Given the description of an element on the screen output the (x, y) to click on. 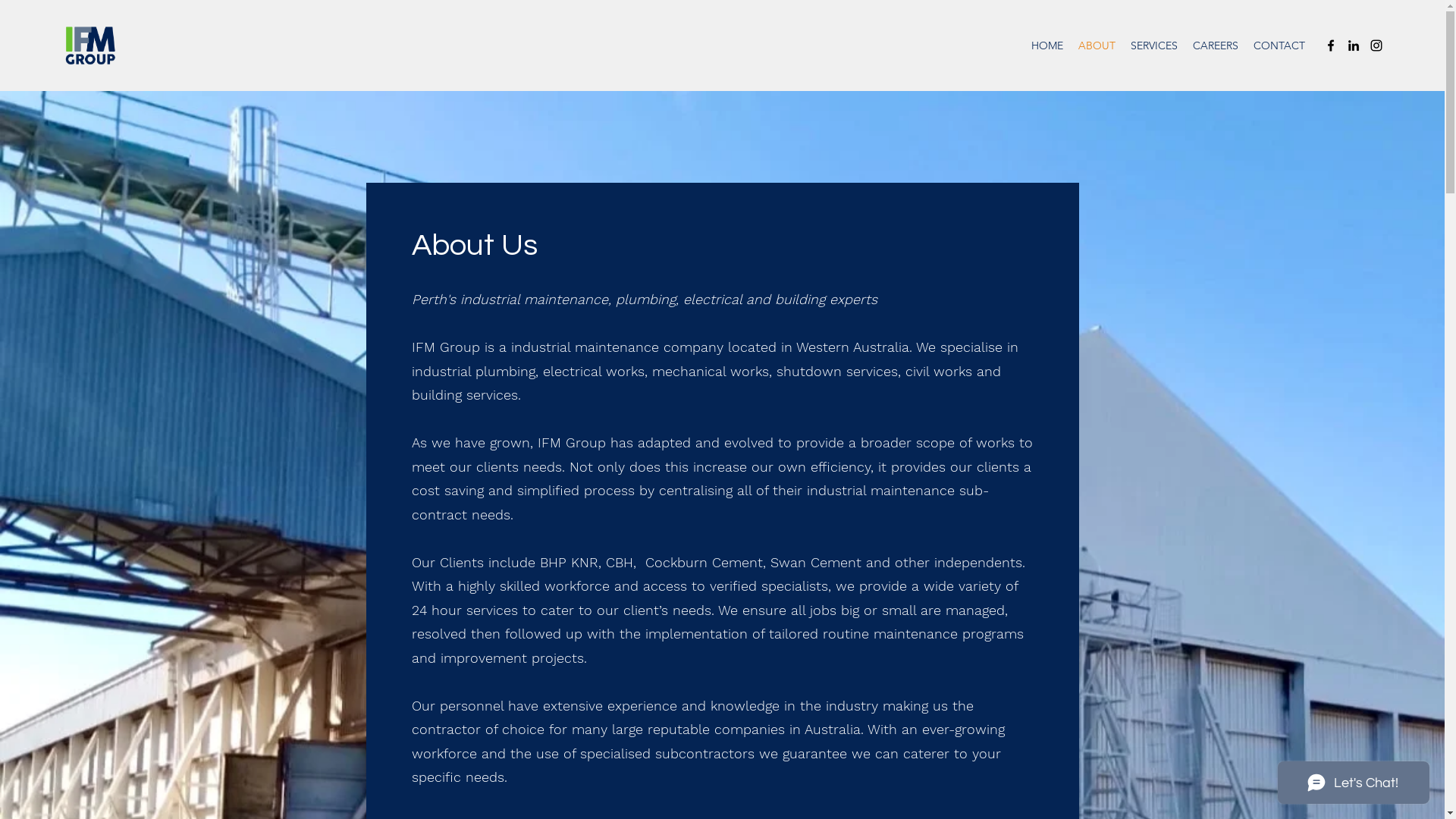
CAREERS Element type: text (1215, 45)
ABOUT Element type: text (1096, 45)
SERVICES Element type: text (1154, 45)
CONTACT Element type: text (1278, 45)
HOME Element type: text (1046, 45)
